Given the description of an element on the screen output the (x, y) to click on. 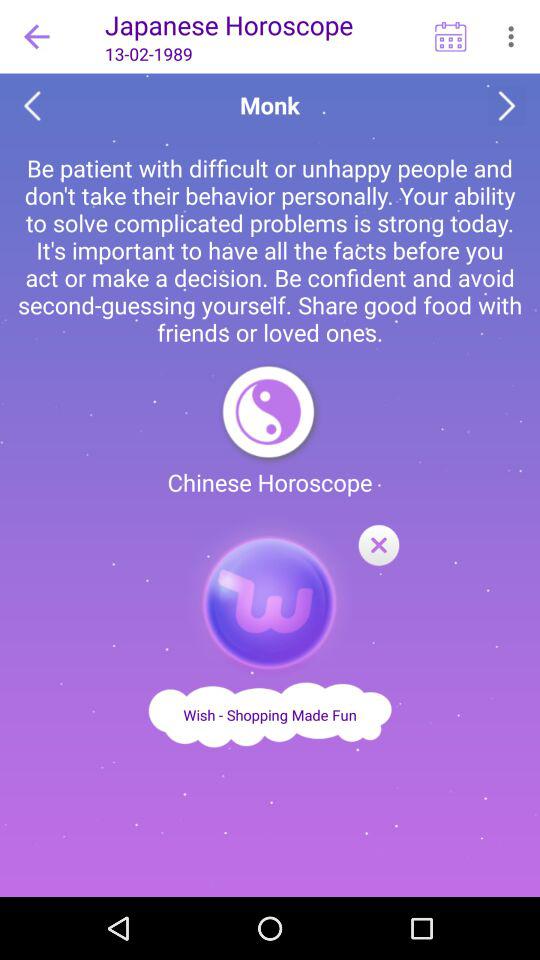
previous (32, 106)
